Given the description of an element on the screen output the (x, y) to click on. 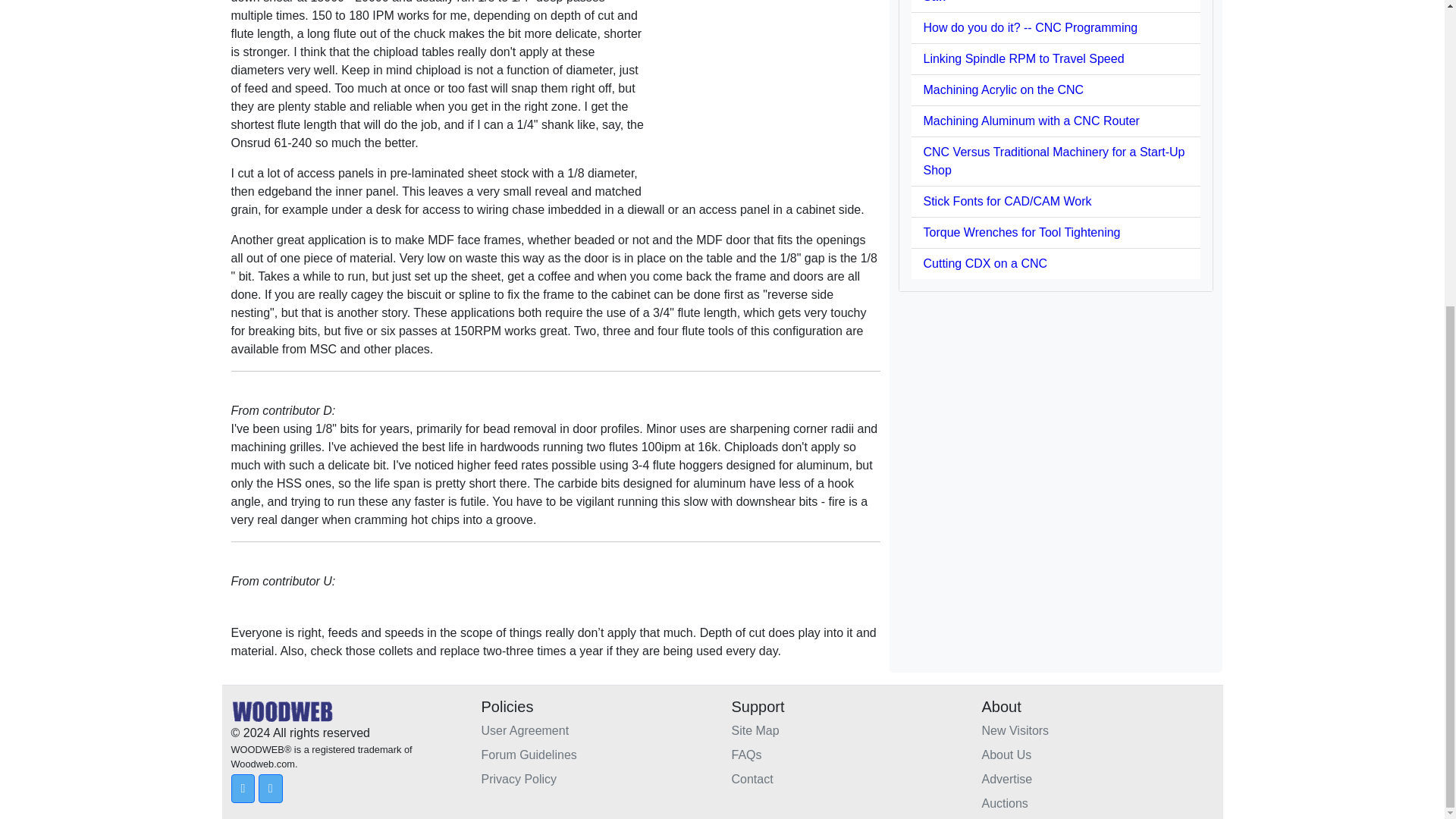
Advertisement (765, 97)
